Given the description of an element on the screen output the (x, y) to click on. 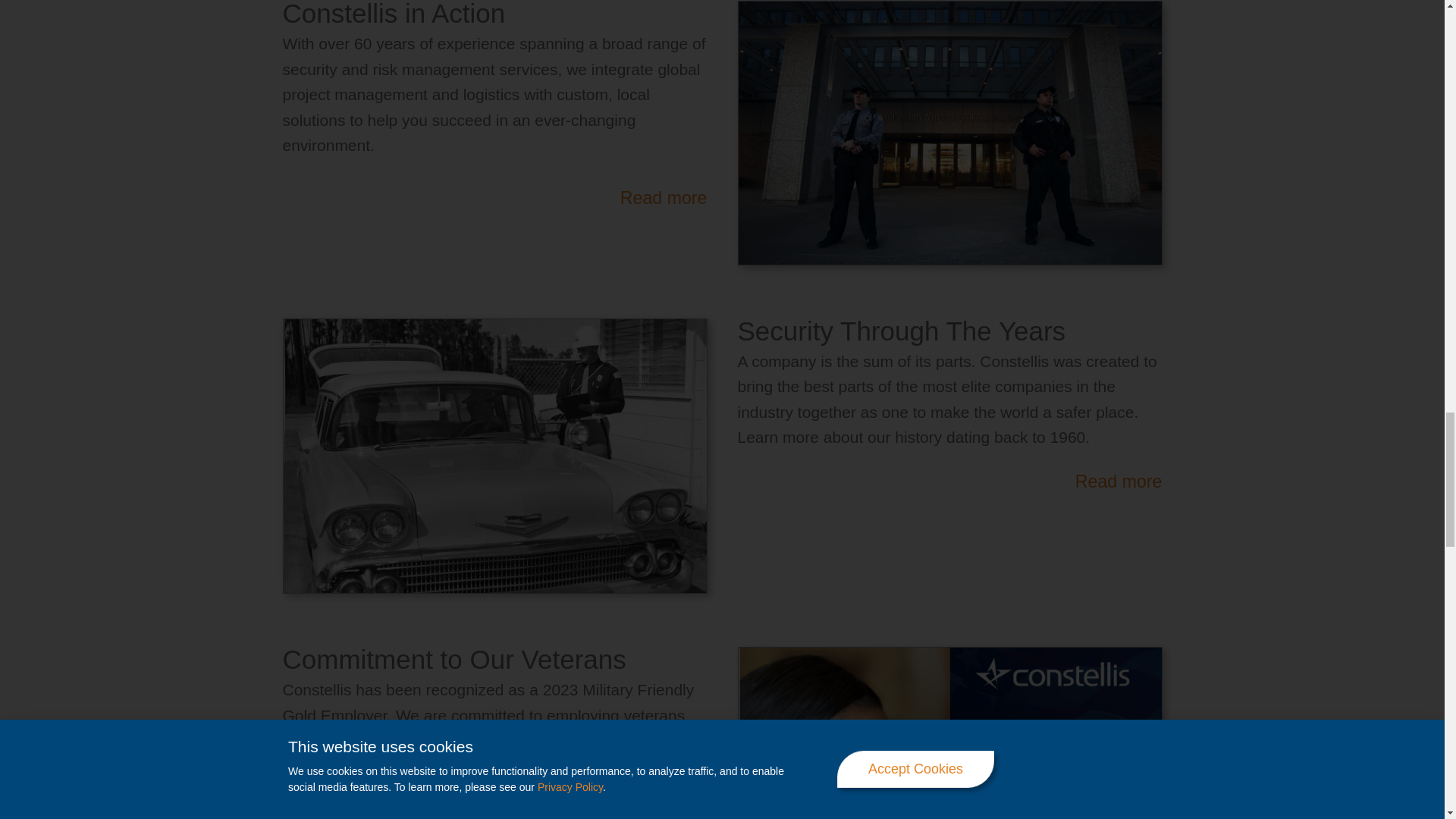
Wackenhut Security (494, 456)
